Given the description of an element on the screen output the (x, y) to click on. 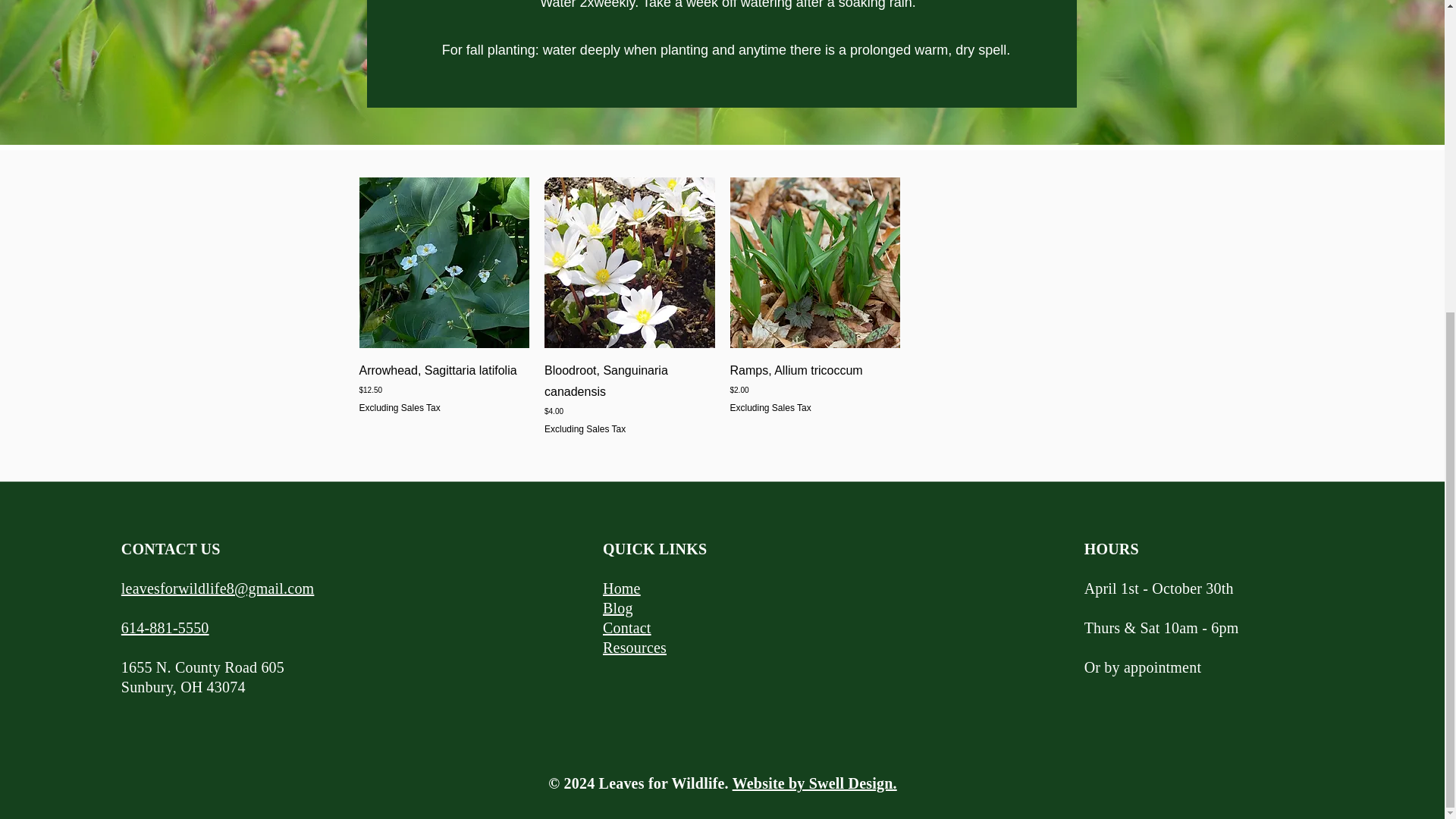
Resources (634, 647)
Website by Swell Design. (814, 782)
Home (621, 588)
614-881-5550 (164, 627)
Contact (626, 627)
Blog (617, 607)
